Given the description of an element on the screen output the (x, y) to click on. 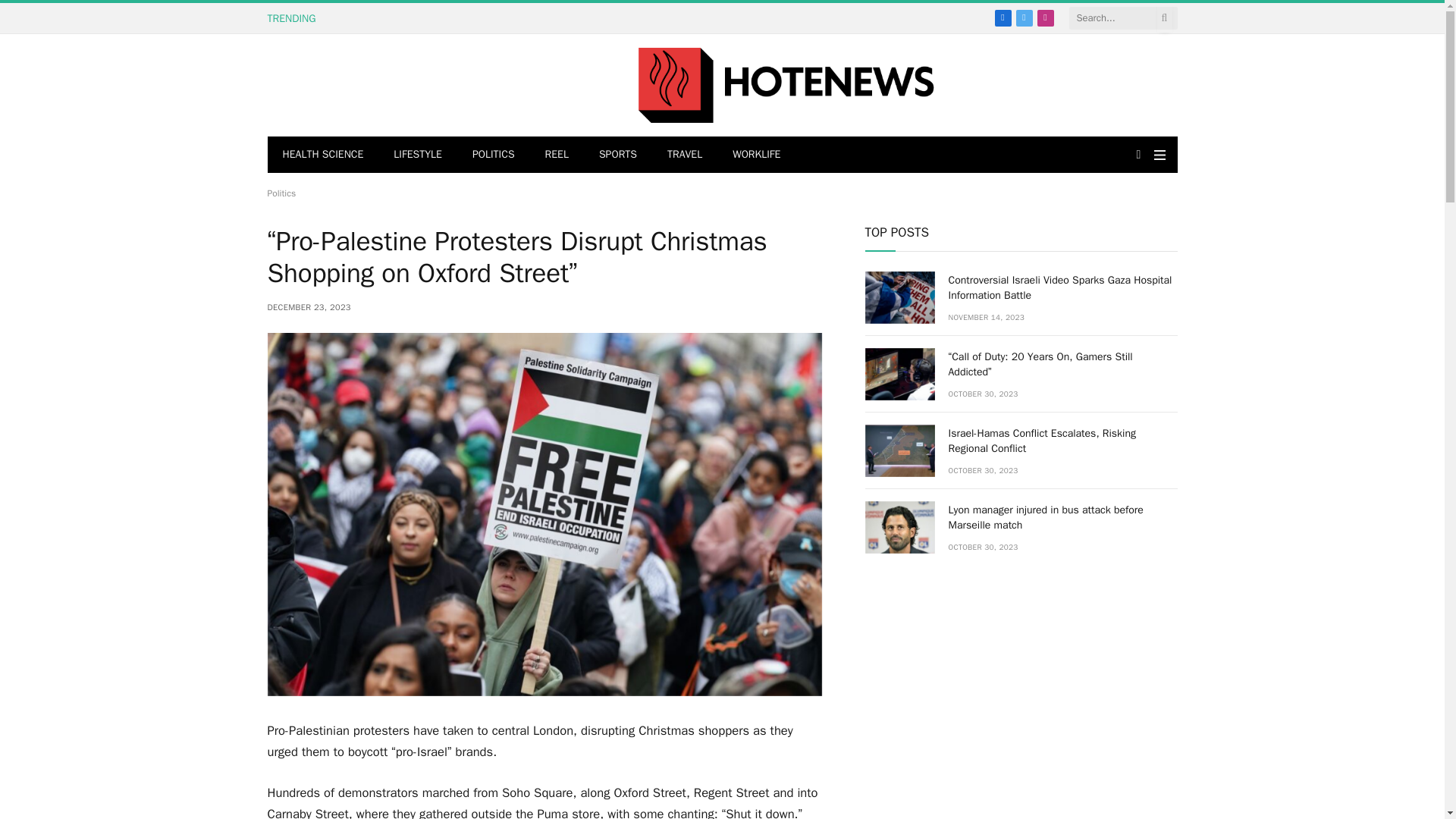
REEL (556, 154)
Instagram (1045, 17)
HEALTH SCIENCE (322, 154)
TRAVEL (684, 154)
WORKLIFE (755, 154)
Facebook (1002, 17)
SPORTS (617, 154)
Switch to Dark Design - easier on eyes. (1138, 154)
LIFESTYLE (417, 154)
Hote News (786, 85)
POLITICS (493, 154)
